Given the description of an element on the screen output the (x, y) to click on. 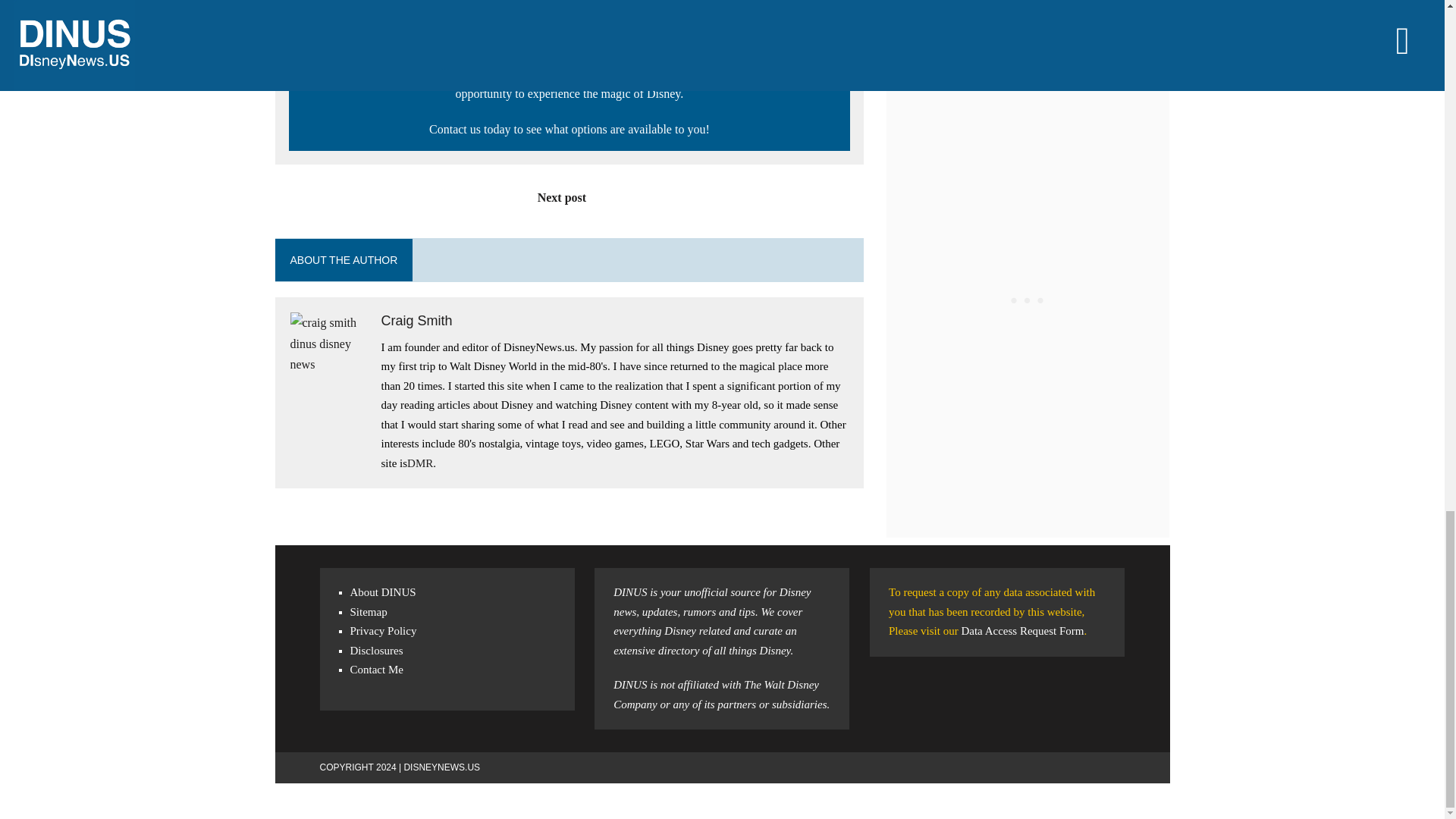
The Walt Disney Company (715, 694)
DMR (419, 463)
GET A FREE DISNEY VACATION QUOTE (569, 35)
See More (1028, 2)
Contact us today to see what options are available to you! (569, 128)
Next post (569, 196)
Craig Smith (415, 320)
About DisneyNews (383, 592)
